Given the description of an element on the screen output the (x, y) to click on. 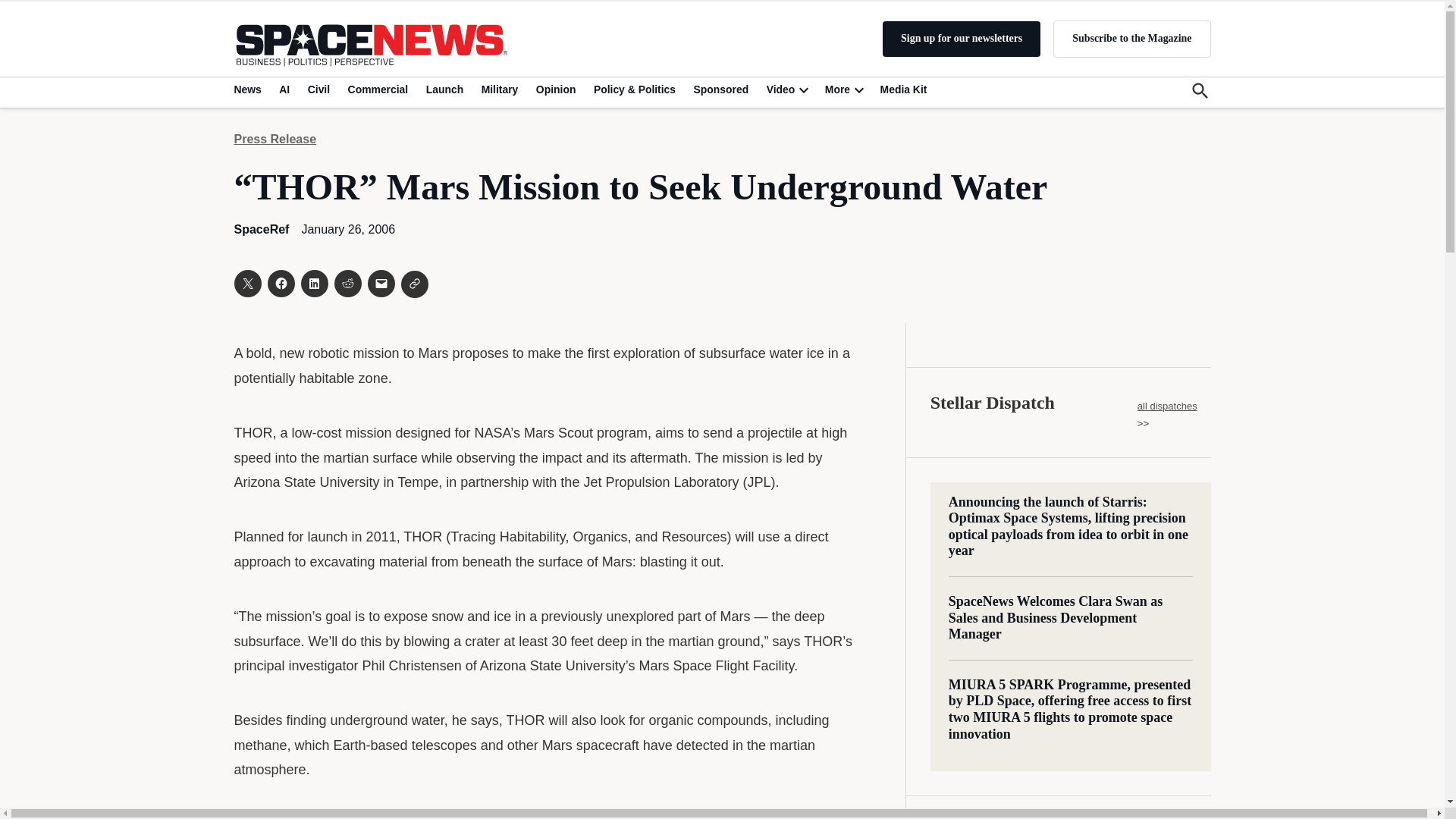
Click to email a link to a friend (380, 283)
Click to share on Reddit (347, 283)
Click to share on X (246, 283)
AI (284, 89)
News (249, 89)
Click to share on LinkedIn (313, 283)
Subscribe to the Magazine (1130, 38)
Click to share on Facebook (280, 283)
Sign up for our newsletters (961, 38)
Click to share on Clipboard (414, 284)
